Given the description of an element on the screen output the (x, y) to click on. 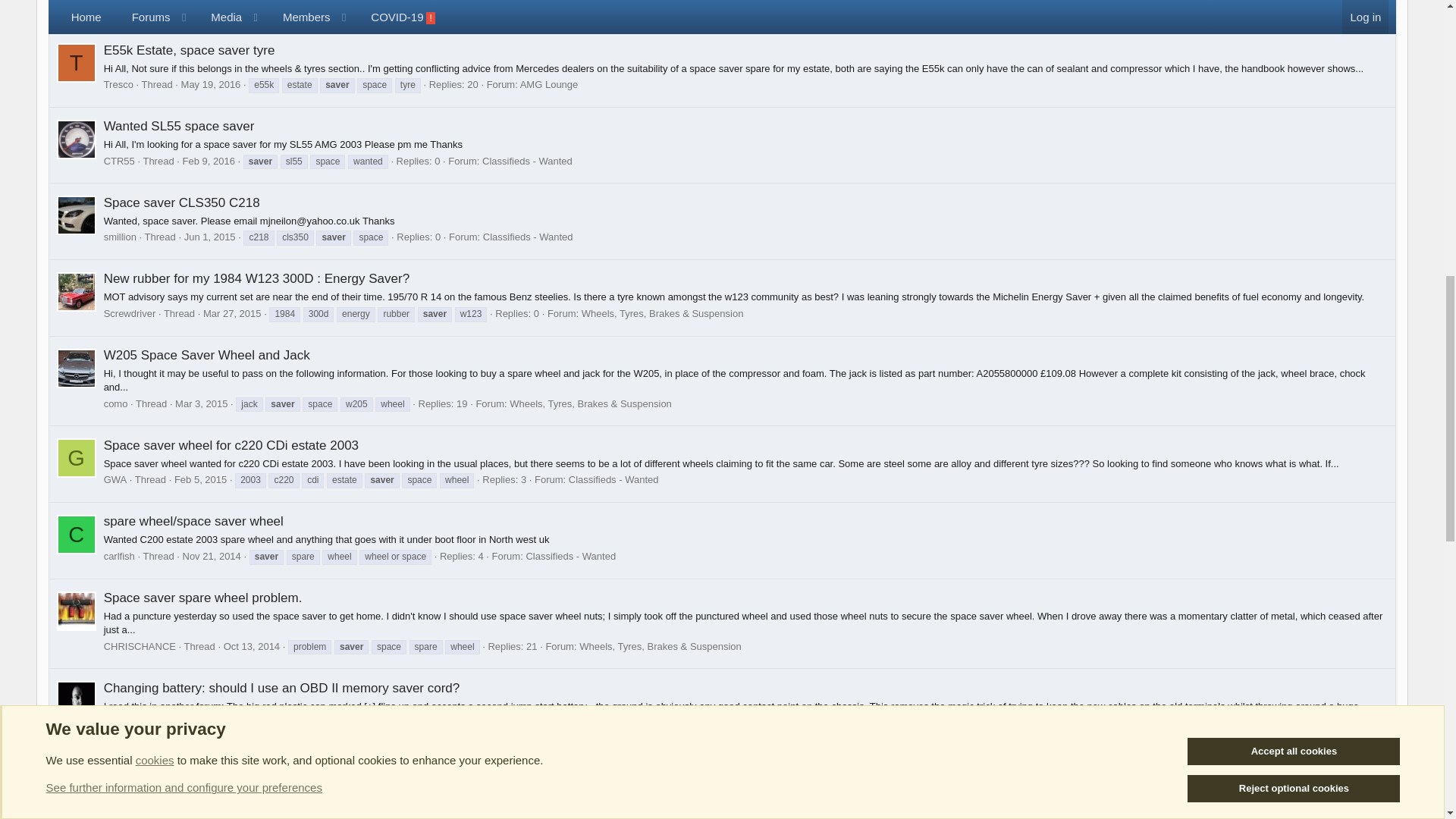
Oct 7, 2014 at 1:06 PM (224, 722)
Oct 13, 2014 at 7:53 PM (251, 645)
Mar 3, 2015 at 8:15 AM (200, 403)
May 19, 2016 at 11:53 AM (210, 84)
Jun 1, 2015 at 8:41 PM (209, 236)
Jun 1, 2016 at 11:40 AM (184, 7)
Nov 21, 2014 at 10:11 PM (211, 555)
Feb 5, 2015 at 12:56 AM (200, 479)
Feb 9, 2016 at 1:25 PM (208, 161)
Mar 27, 2015 at 11:20 PM (232, 313)
Sep 4, 2014 at 10:52 AM (209, 798)
